Given the description of an element on the screen output the (x, y) to click on. 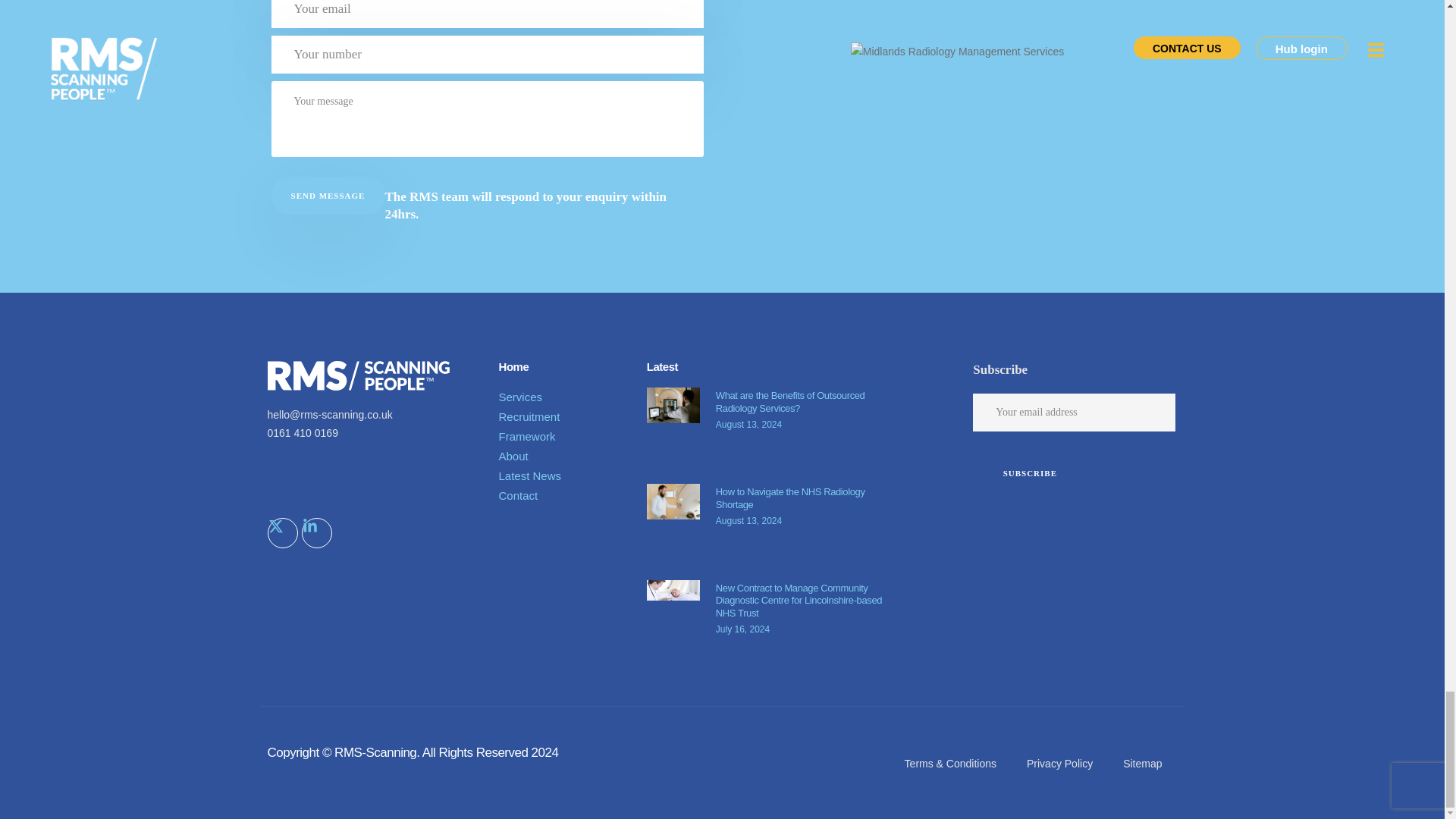
How to Navigate the NHS Radiology Shortage (790, 498)
Subscribe (1029, 473)
Send message (327, 195)
Latest News (565, 476)
Contact (565, 496)
Framework (565, 436)
Send message (327, 195)
Services (565, 397)
Recruitment (565, 416)
What are the Benefits of Outsourced Radiology Services? (790, 401)
